Given the description of an element on the screen output the (x, y) to click on. 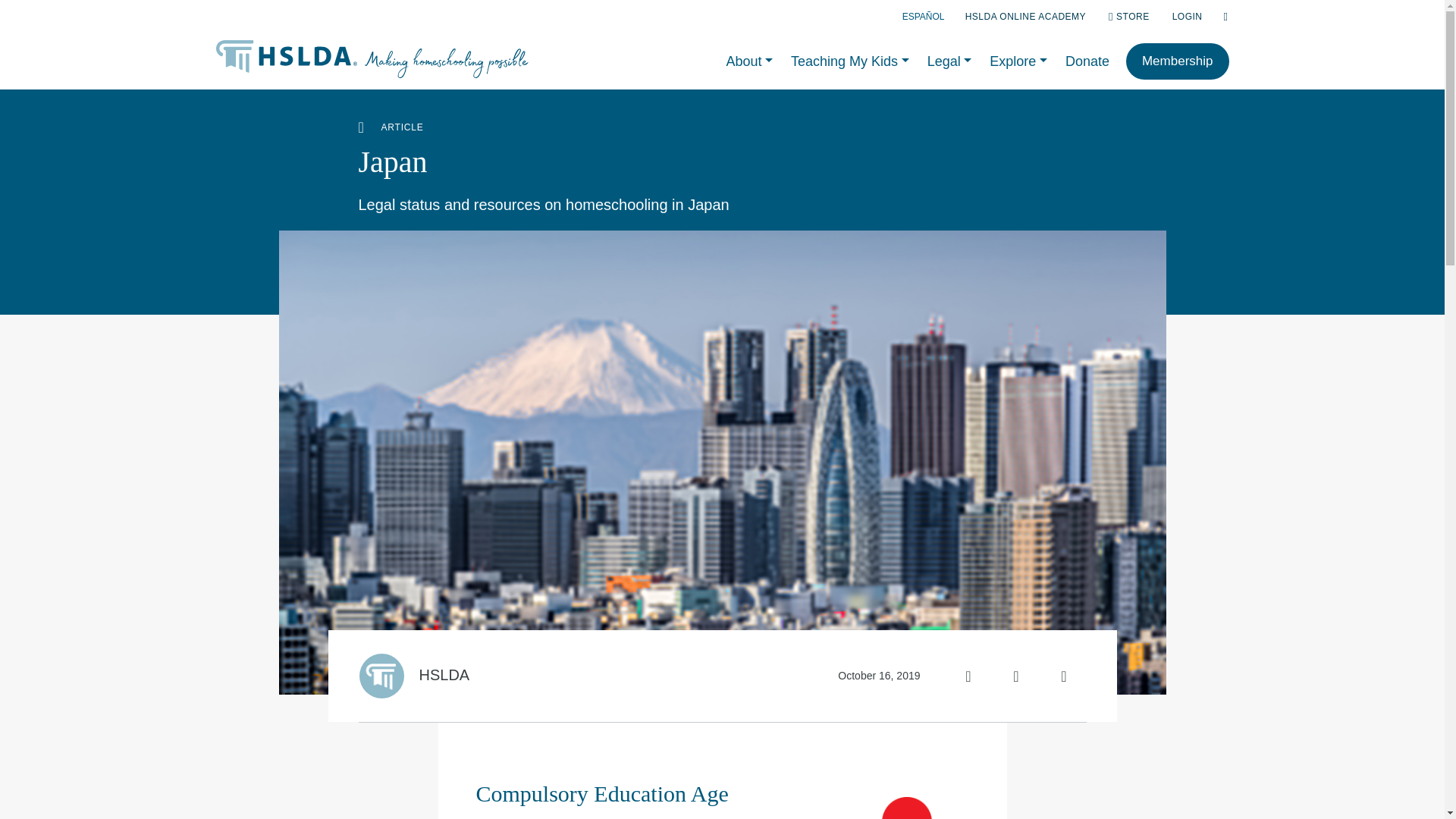
About (748, 63)
Explore (1018, 63)
Teaching My Kids (849, 63)
LOGIN (1187, 16)
Legal (949, 63)
STORE (1129, 16)
Membership (1176, 60)
Donate (1087, 63)
HSLDA ONLINE ACADEMY (1025, 16)
